Given the description of an element on the screen output the (x, y) to click on. 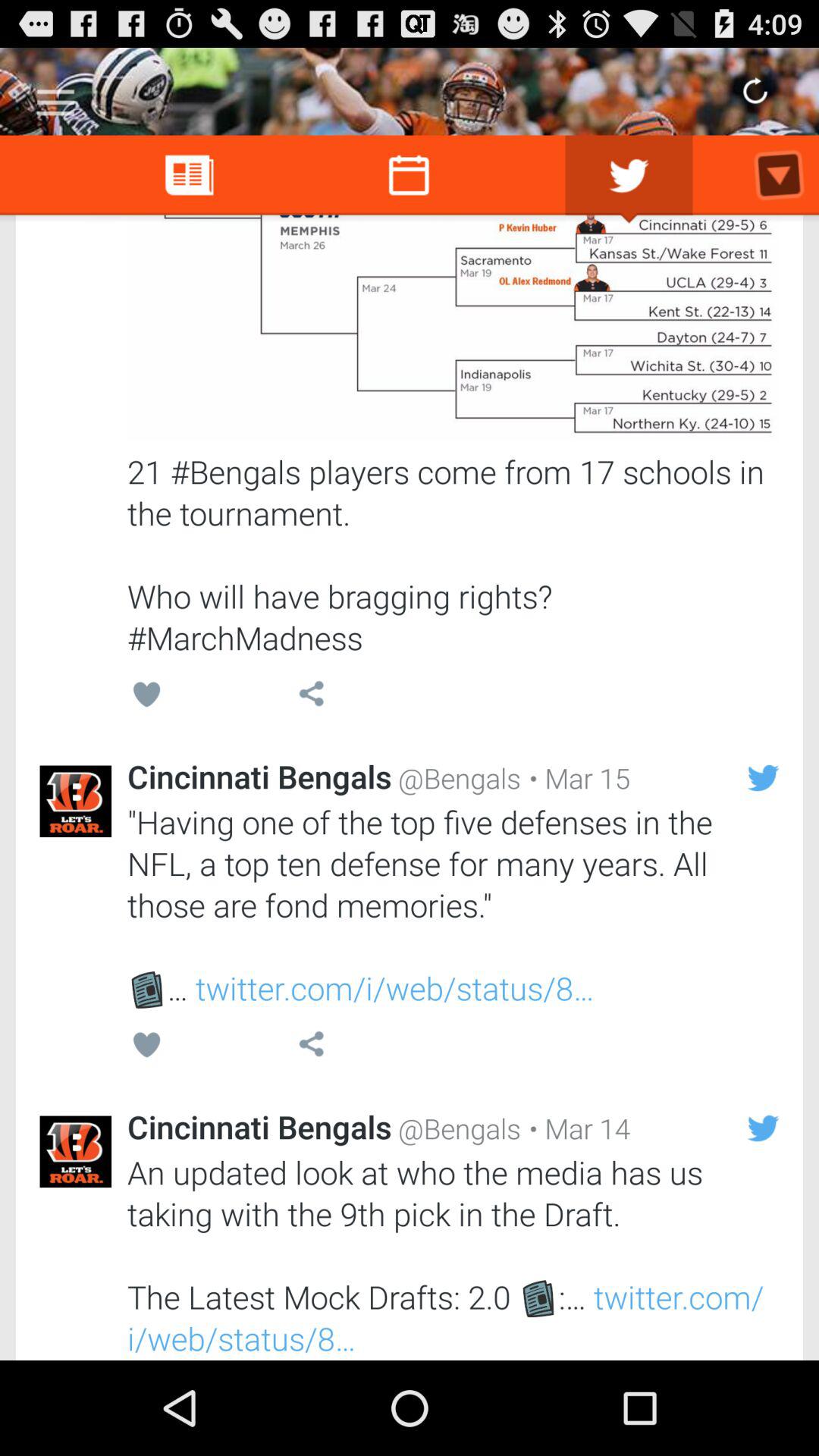
click the an updated look (453, 1254)
